Given the description of an element on the screen output the (x, y) to click on. 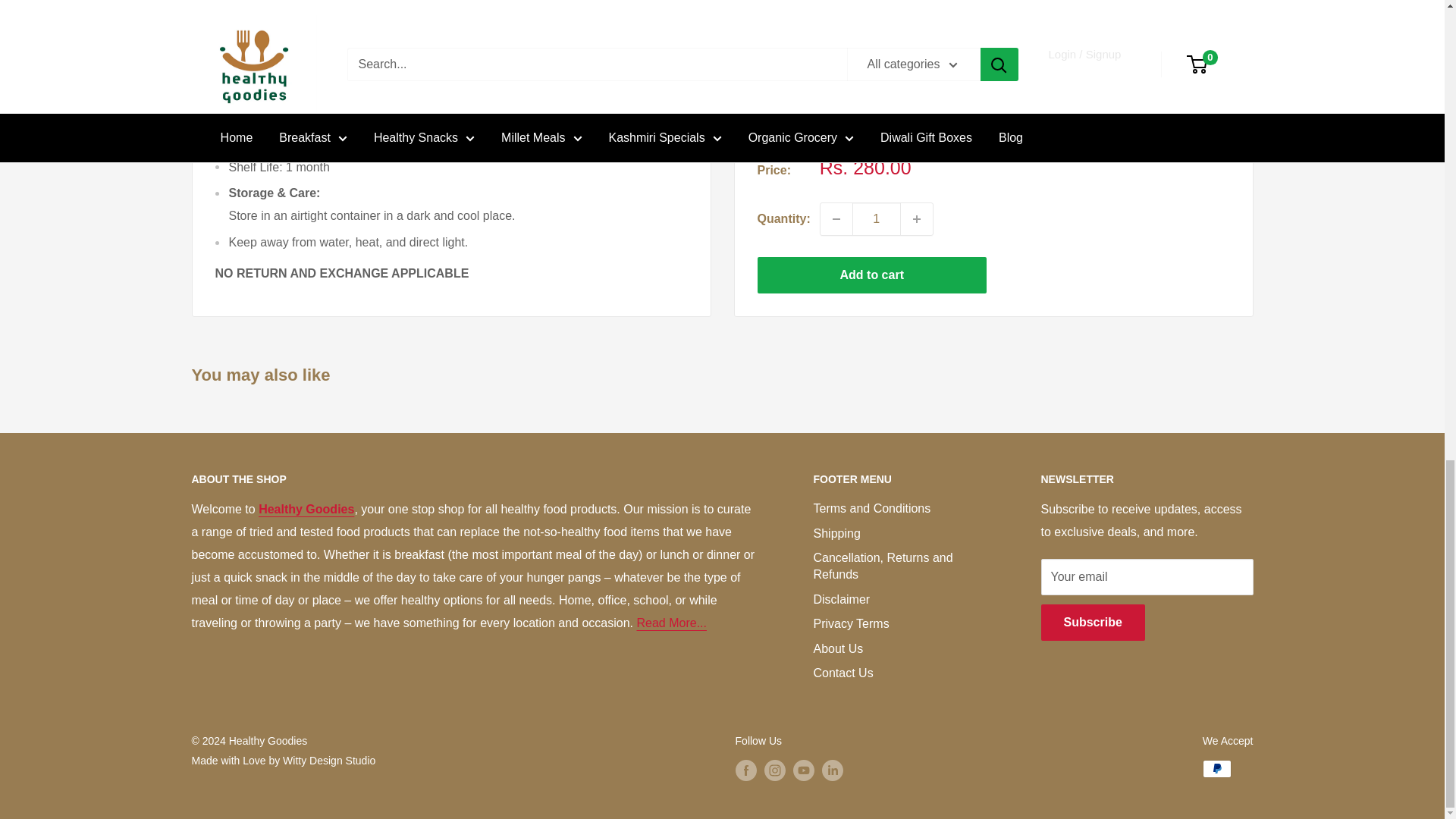
About (671, 622)
